Given the description of an element on the screen output the (x, y) to click on. 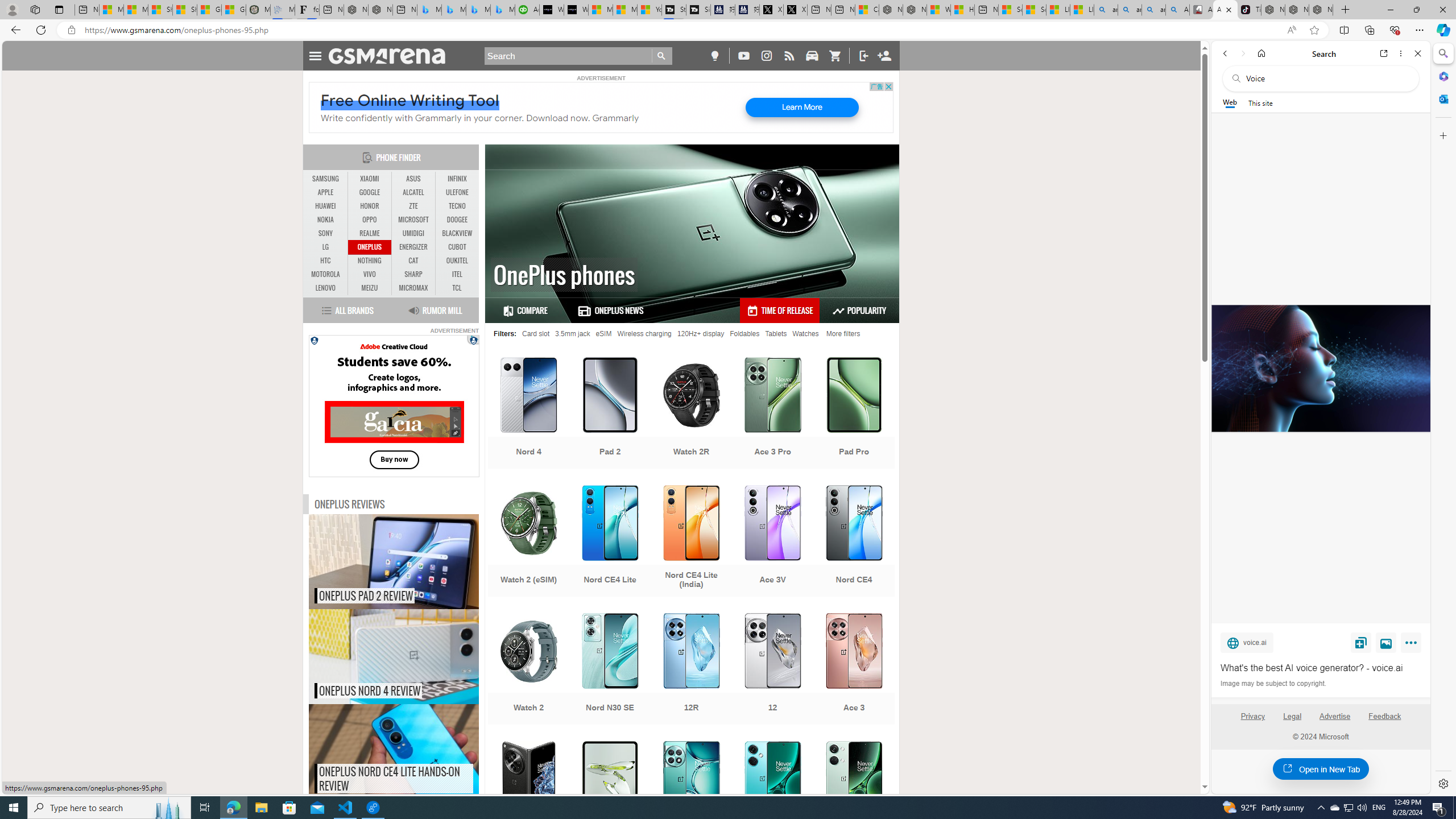
AutomationID: anchor (391, 55)
OnePlus Pad 2 review ONEPLUS PAD 2 REVIEW (393, 561)
More filters (842, 333)
VIVO (369, 273)
Legal (1292, 720)
HTC (325, 260)
Foldables (744, 333)
3.5mm jack (571, 333)
MOTOROLA (325, 273)
